Given the description of an element on the screen output the (x, y) to click on. 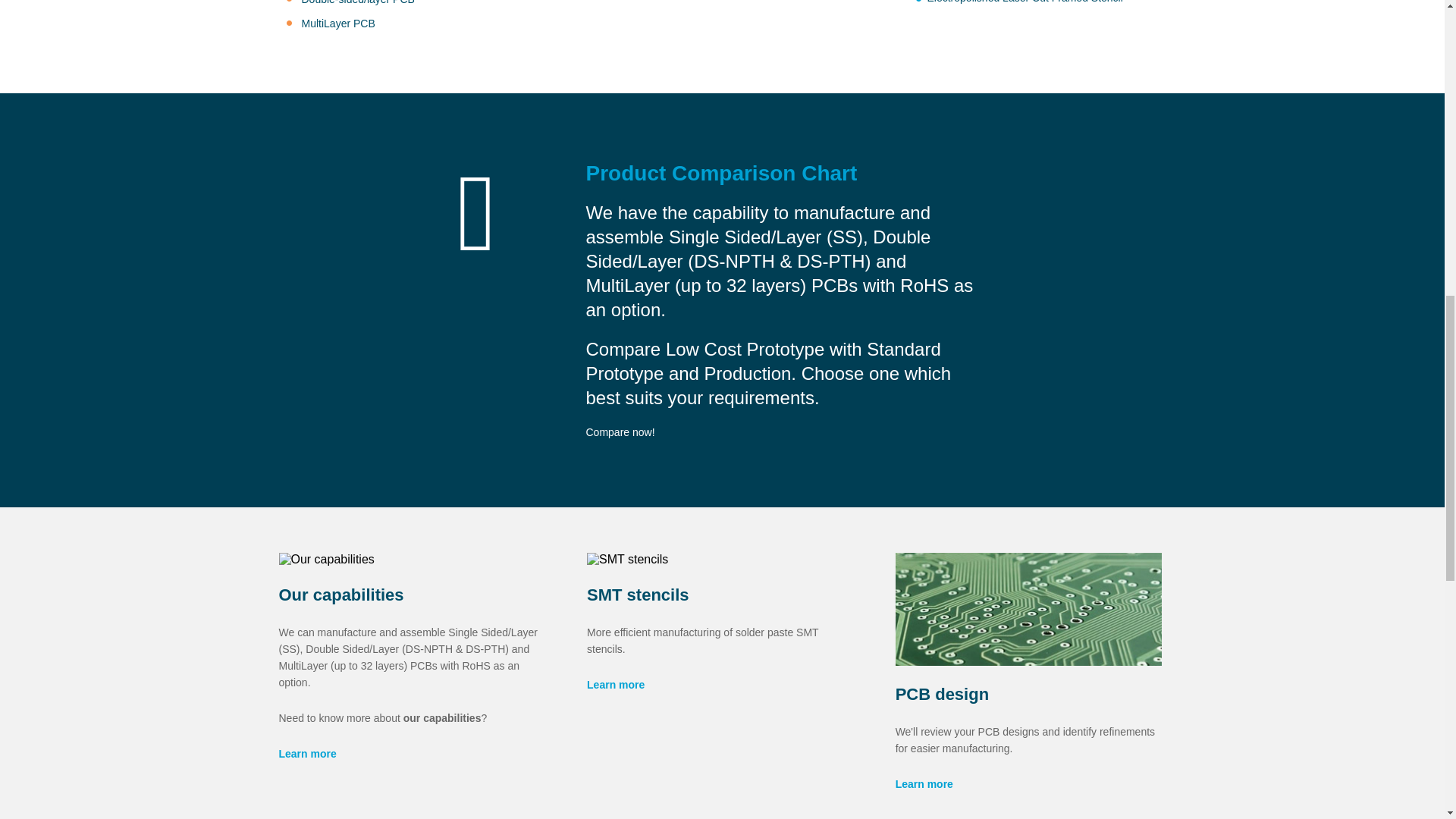
Learn more (615, 684)
Electropolished Laser Cut Framed Stencil (1024, 2)
Learn more (307, 753)
MultiLayer PCB (338, 23)
Compare now! (619, 431)
Learn more (924, 784)
